Given the description of an element on the screen output the (x, y) to click on. 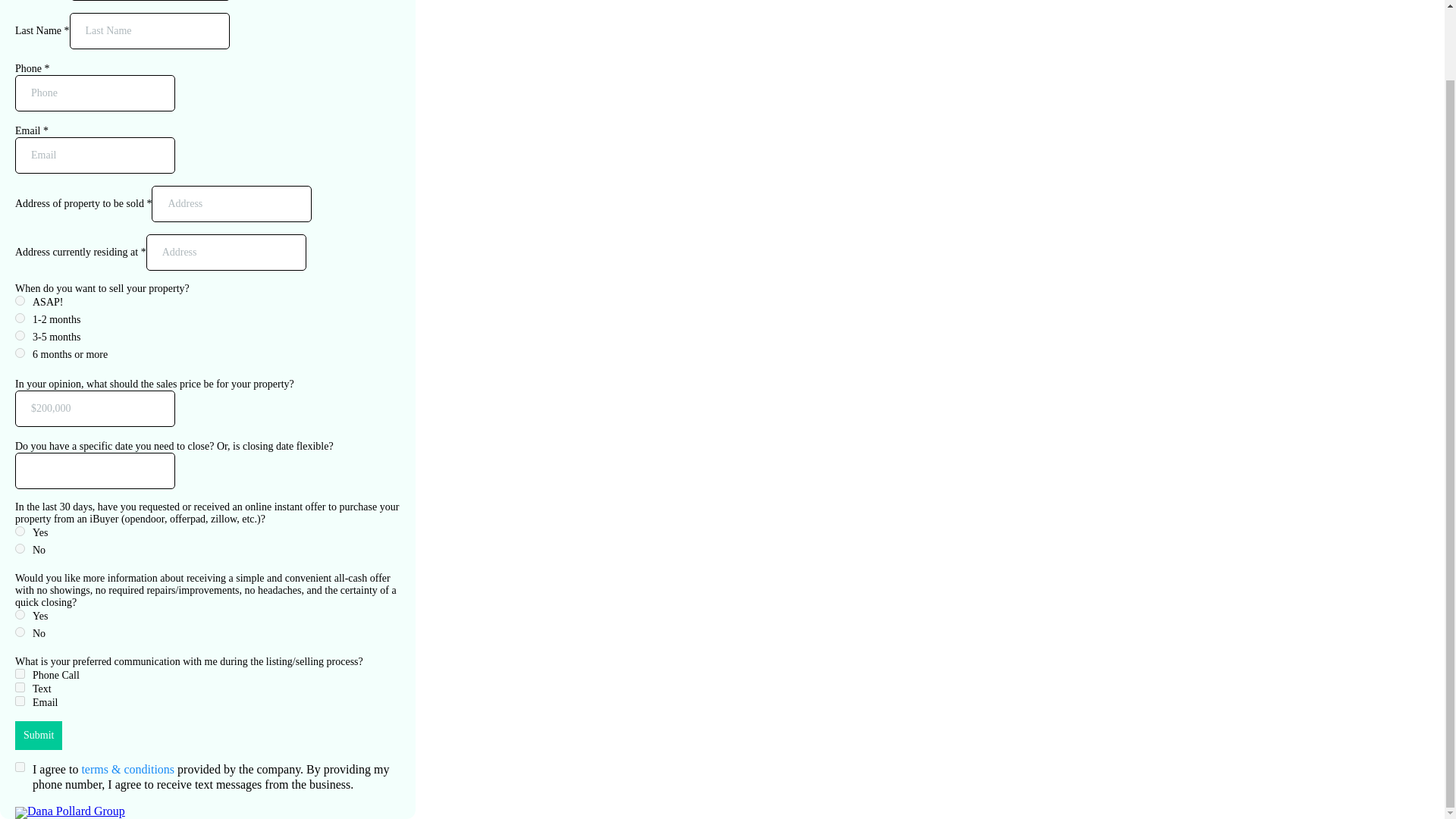
3-5 months (19, 335)
Yes (19, 614)
6 months or more (19, 352)
Submit (38, 735)
No (19, 632)
Yes (19, 531)
No (19, 548)
ASAP! (19, 300)
Email (19, 700)
Phone Call (19, 673)
